Given the description of an element on the screen output the (x, y) to click on. 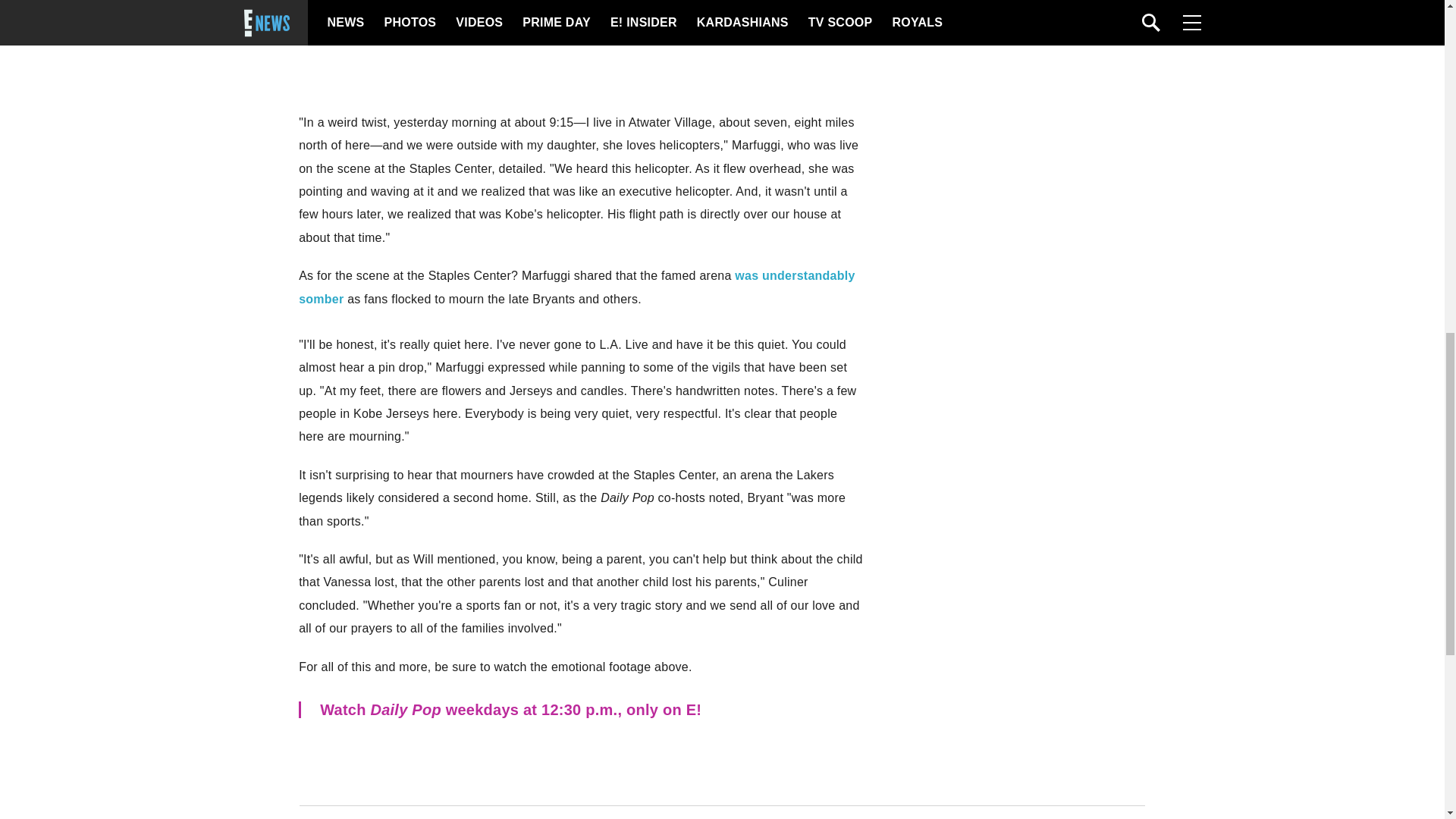
was understandably somber (576, 286)
